Given the description of an element on the screen output the (x, y) to click on. 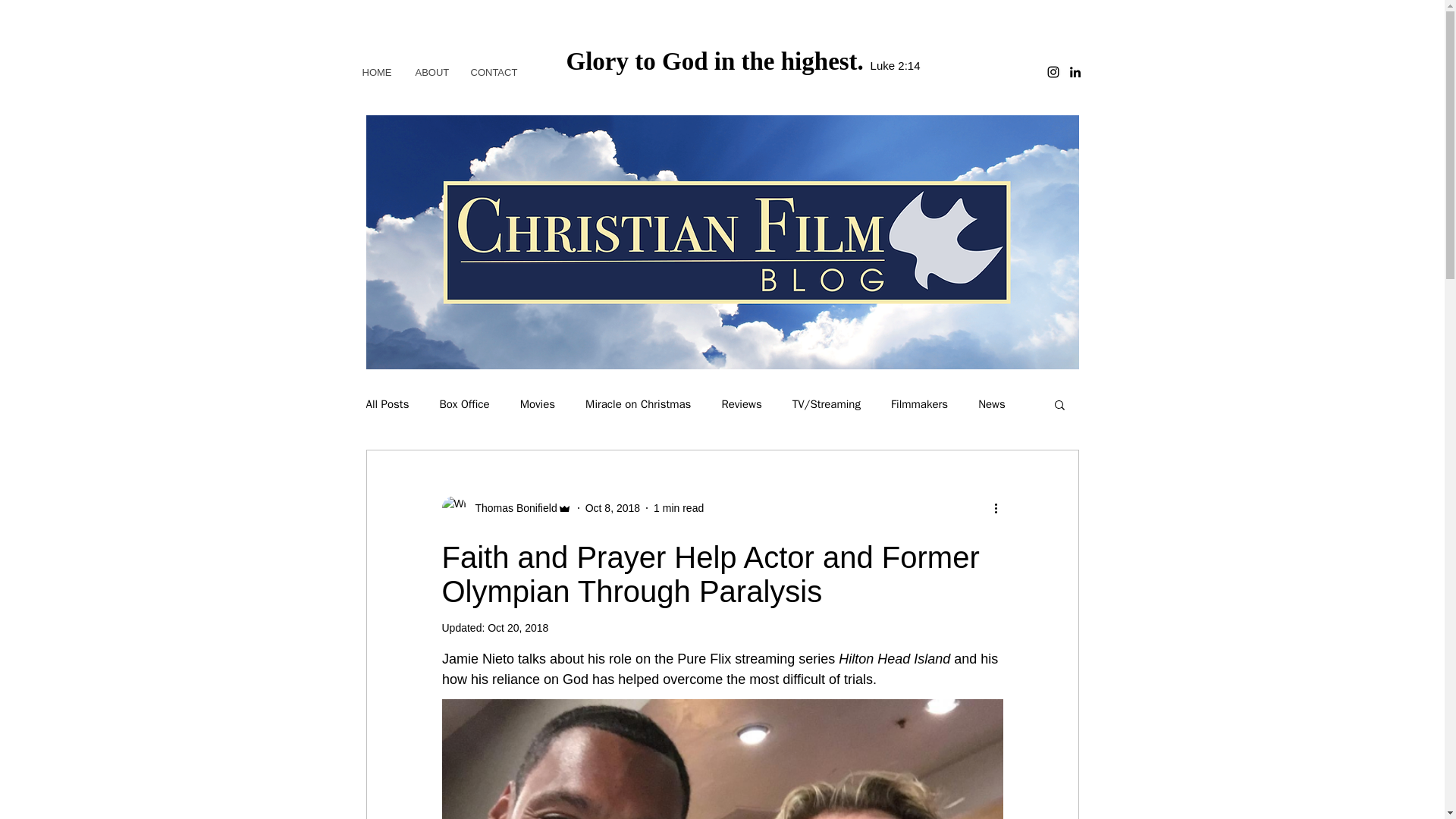
All Posts (387, 404)
HOME (376, 71)
Oct 20, 2018 (517, 627)
Thomas Bonifield (510, 508)
CONTACT (492, 71)
Miracle on Christmas (637, 404)
Movies (536, 404)
News (992, 404)
Filmmakers (919, 404)
ABOUT (430, 71)
Oct 8, 2018 (612, 508)
Reviews (740, 404)
Box Office (464, 404)
1 min read (678, 508)
